Given the description of an element on the screen output the (x, y) to click on. 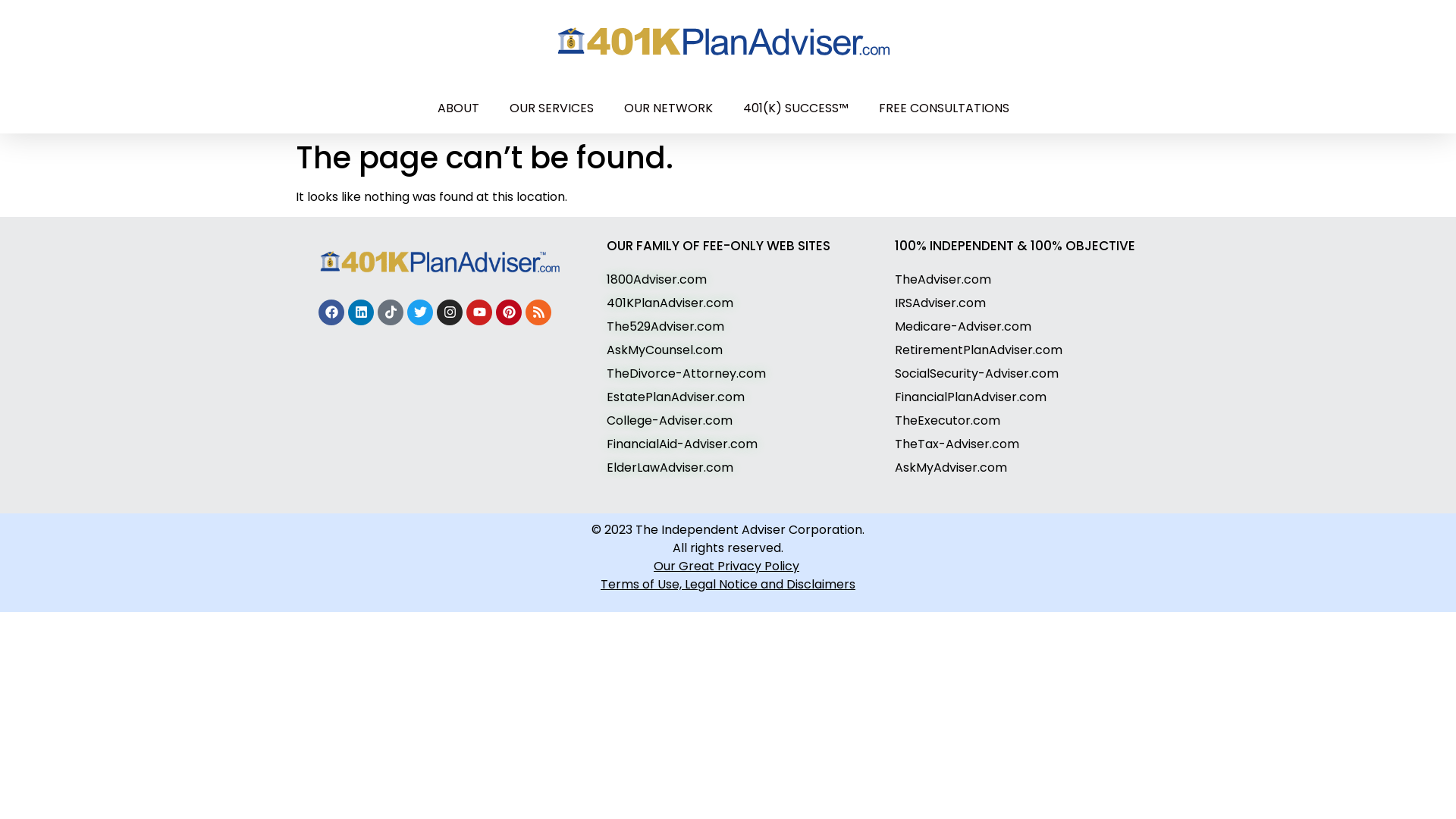
AskMyCounsel.com Element type: text (664, 349)
401KPlanAdviser.com Element type: text (669, 302)
AskMyAdviser.com Element type: text (950, 467)
FinancialPlanAdviser.com Element type: text (970, 396)
TheTax-Adviser.com Element type: text (956, 443)
The529Adviser.com Element type: text (665, 326)
FinancialAid-Adviser.com Element type: text (681, 443)
OUR SERVICES Element type: text (551, 108)
SocialSecurity-Adviser.com Element type: text (976, 373)
ABOUT Element type: text (458, 108)
College-Adviser.com Element type: text (669, 420)
RetirementPlanAdviser.com Element type: text (978, 349)
ElderLawAdviser.com Element type: text (669, 467)
Medicare-Adviser.com Element type: text (962, 326)
Our Great Privacy Policy  Element type: text (727, 565)
Terms of Use, Legal Notice and Disclaimers Element type: text (727, 584)
TheAdviser.com Element type: text (942, 279)
TheExecutor.com Element type: text (947, 420)
FREE CONSULTATIONS Element type: text (943, 108)
EstatePlanAdviser.com Element type: text (675, 396)
TheDivorce-Attorney.com Element type: text (685, 373)
1800Adviser.com Element type: text (656, 279)
IRSAdviser.com Element type: text (939, 302)
OUR NETWORK Element type: text (668, 108)
